Given the description of an element on the screen output the (x, y) to click on. 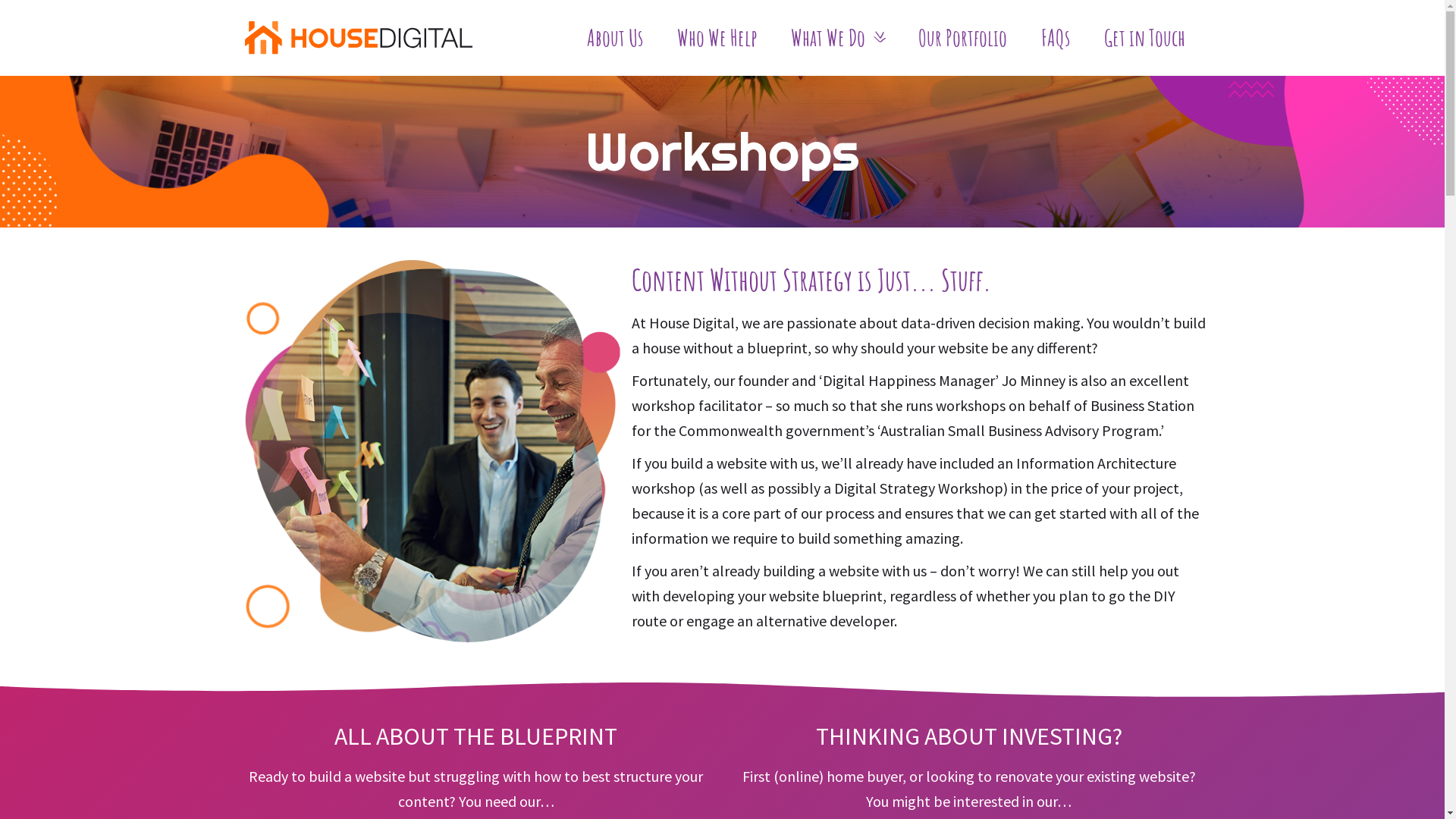
Get in Touch Element type: text (1144, 37)
About Us Element type: text (614, 37)
What We Do Element type: text (836, 37)
Who We Help Element type: text (716, 37)
Our Portfolio Element type: text (961, 37)
FAQs Element type: text (1054, 37)
